Given the description of an element on the screen output the (x, y) to click on. 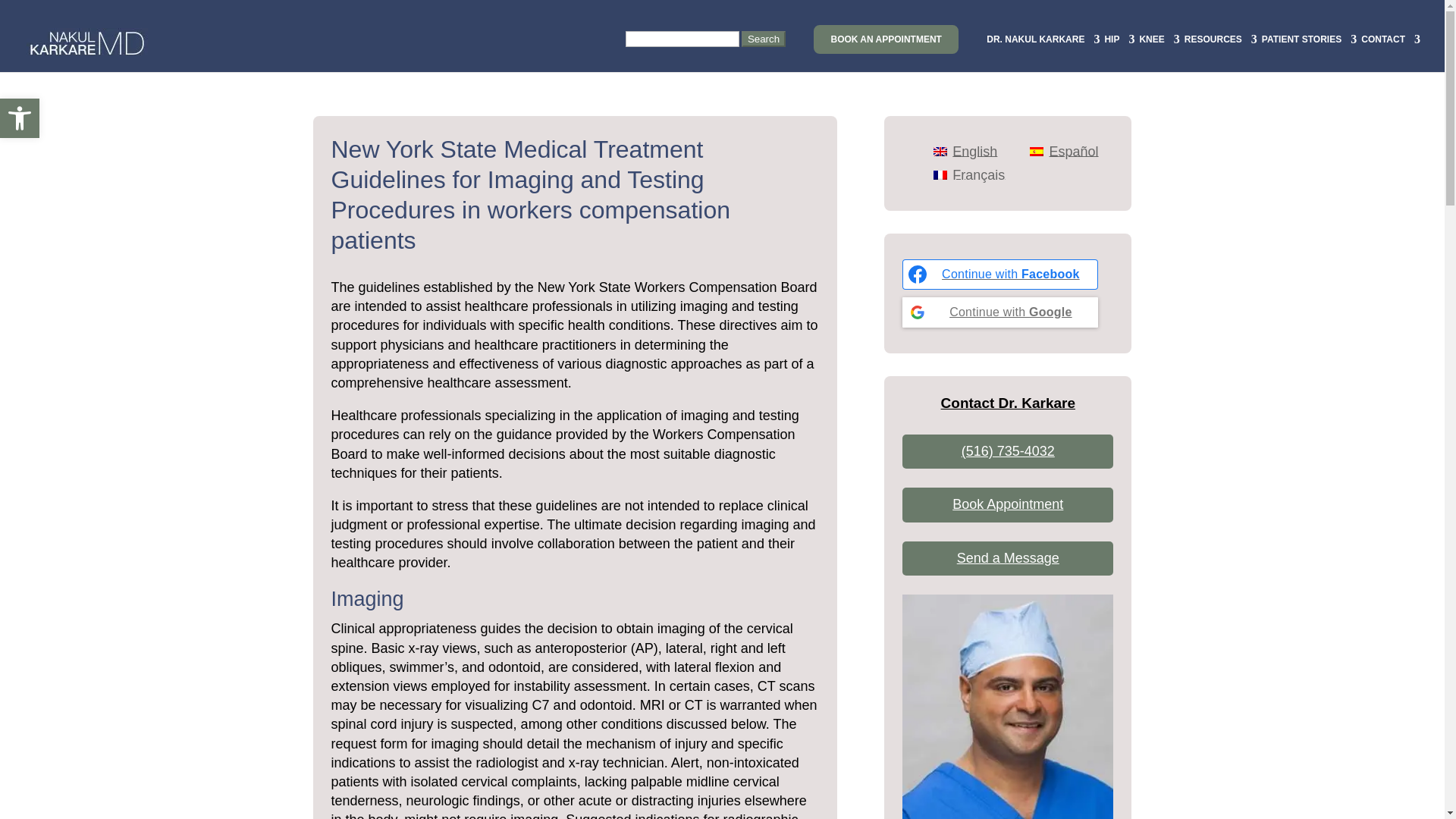
CONTACT (1391, 51)
DR. NAKUL KARKARE (1043, 51)
Dr. Nakul Karkare (1007, 706)
Accessibility Tools (19, 118)
Search (763, 38)
BOOK AN APPOINTMENT (885, 39)
RESOURCES (1221, 51)
KNEE (1158, 51)
PATIENT STORIES (1309, 51)
Accessibility Tools (19, 118)
Search for: (706, 51)
Search (763, 38)
